Given the description of an element on the screen output the (x, y) to click on. 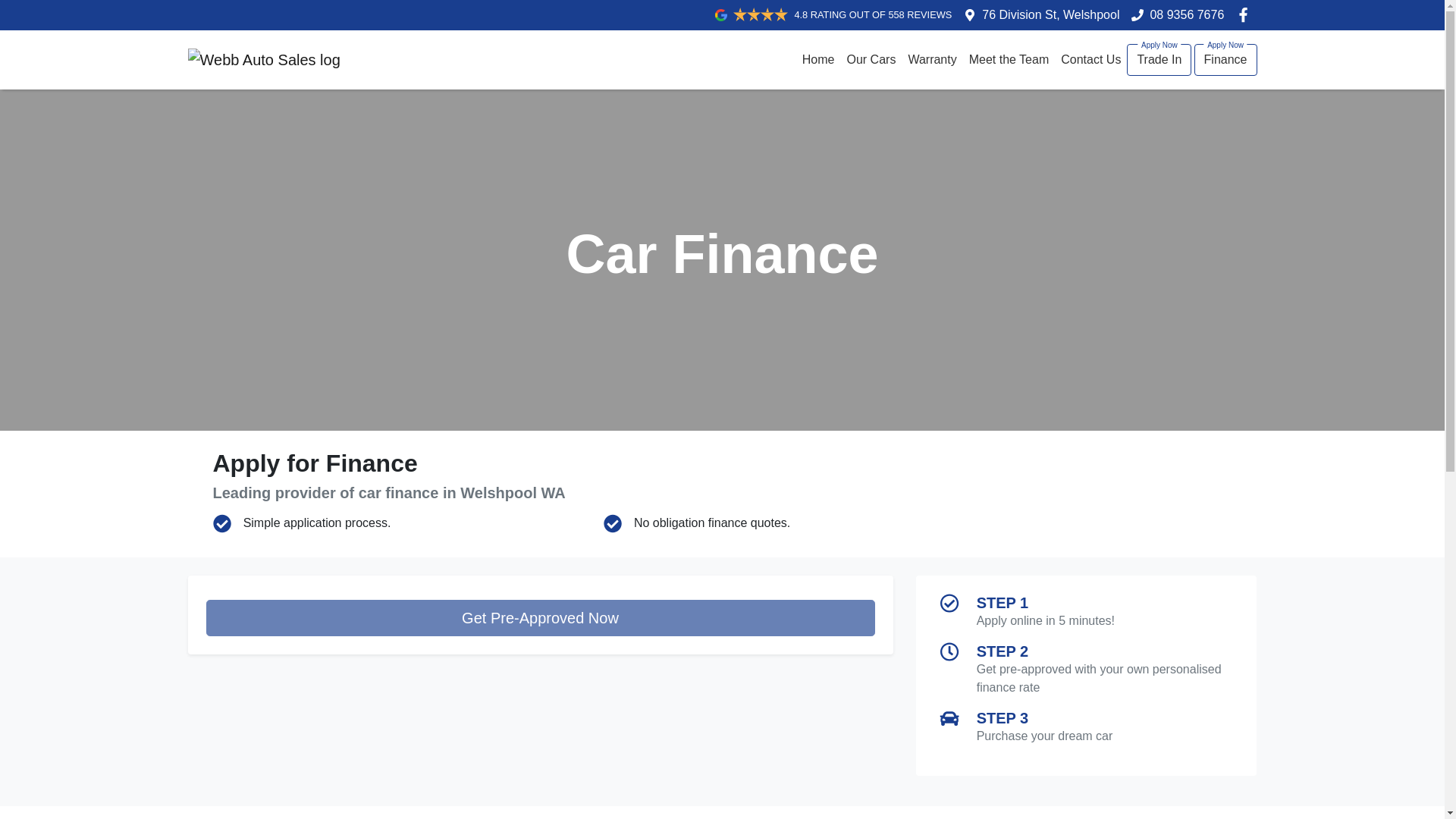
Trade In (1158, 60)
Meet the Team (1008, 60)
Home (818, 60)
Finance (1225, 60)
Our Cars (870, 60)
Warranty (931, 60)
76 Division St, Welshpool (1050, 14)
08 9356 7676 (1187, 14)
Get Pre-Approved Now (540, 617)
Contact Us (1090, 60)
